Given the description of an element on the screen output the (x, y) to click on. 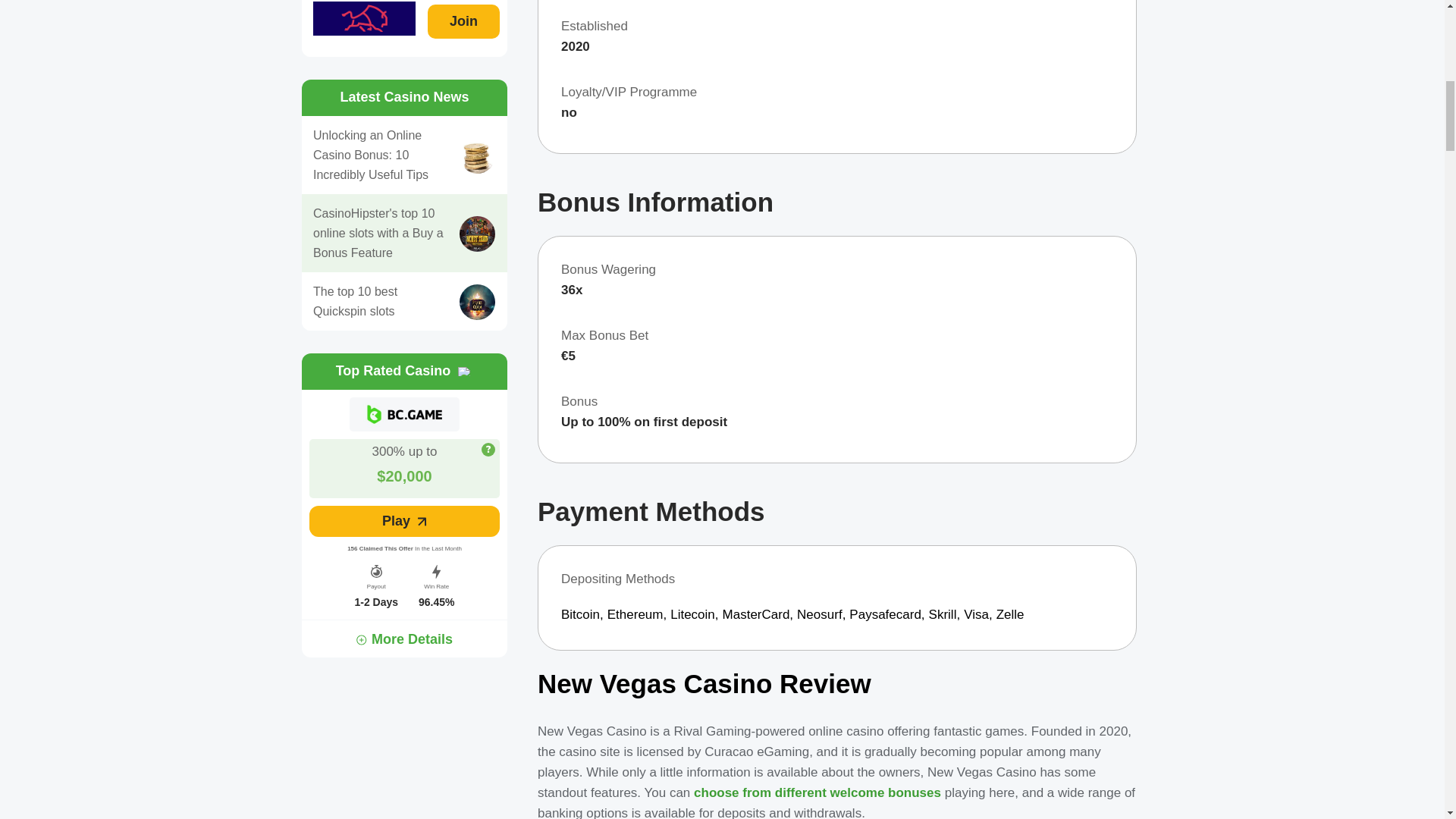
Buffalo (363, 18)
bc.game casino logo (404, 414)
Bitcoin (582, 614)
